Given the description of an element on the screen output the (x, y) to click on. 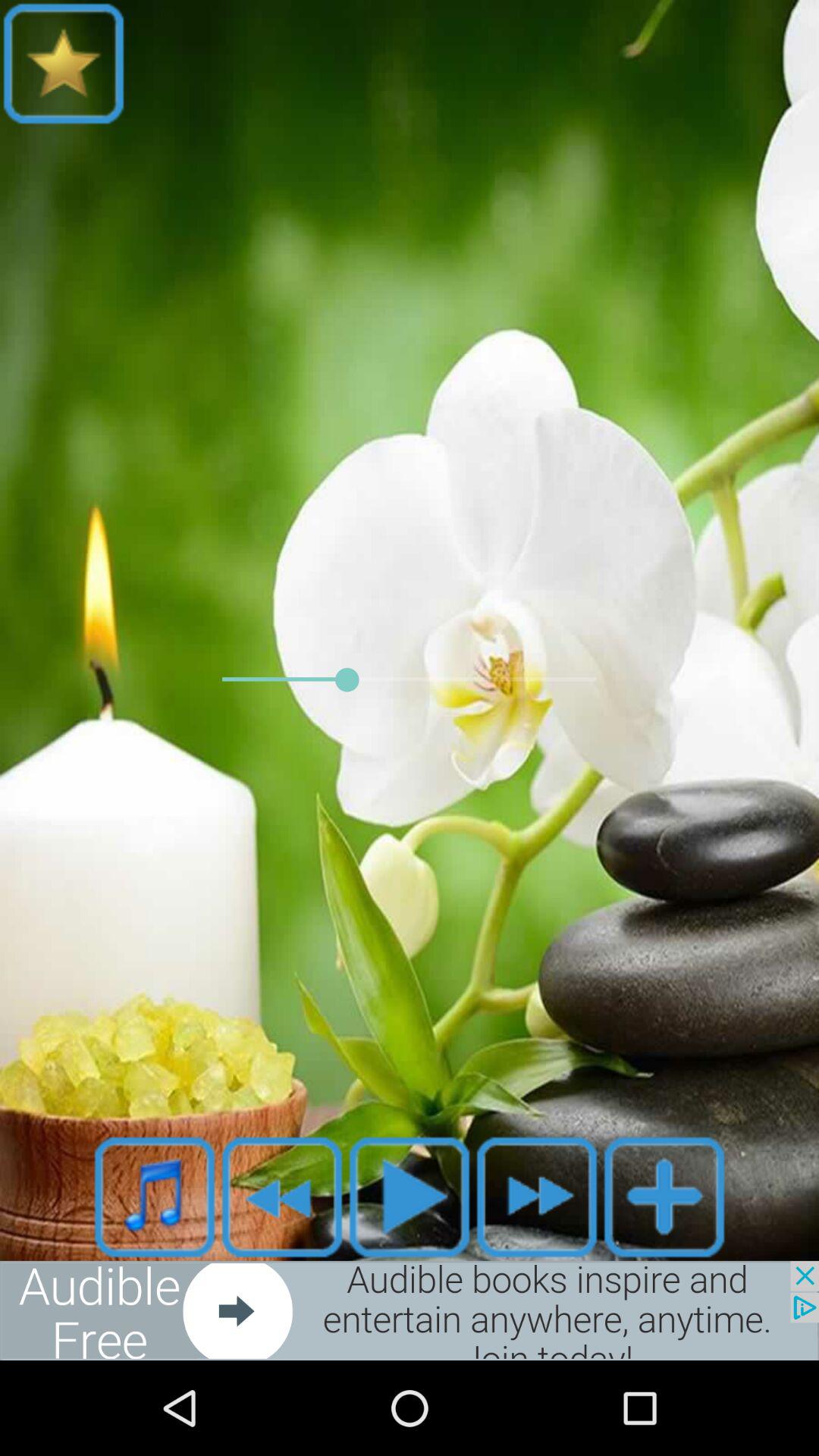
advertisement area (409, 1310)
